Given the description of an element on the screen output the (x, y) to click on. 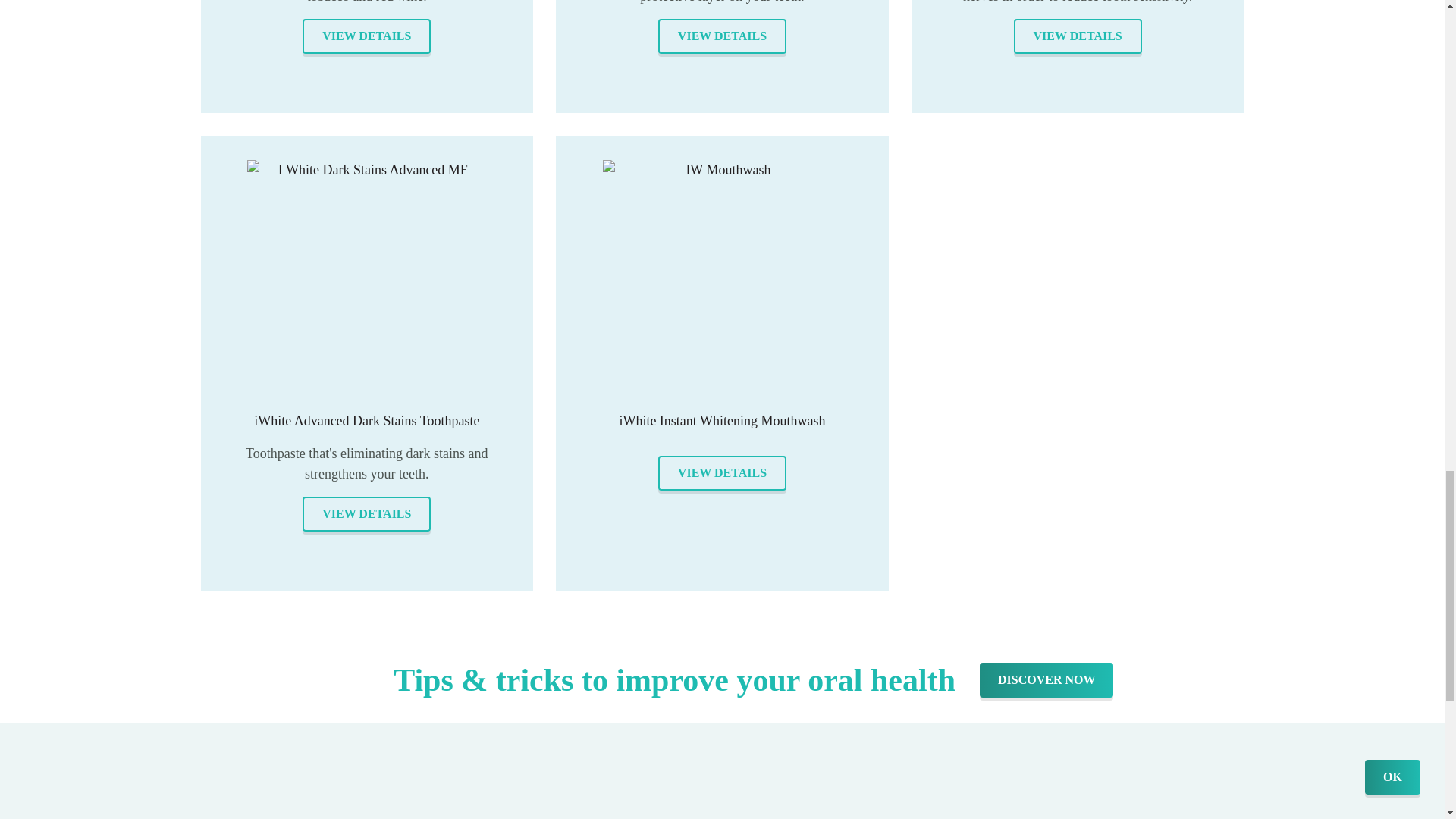
DISCOVER NOW (1046, 679)
